Given the description of an element on the screen output the (x, y) to click on. 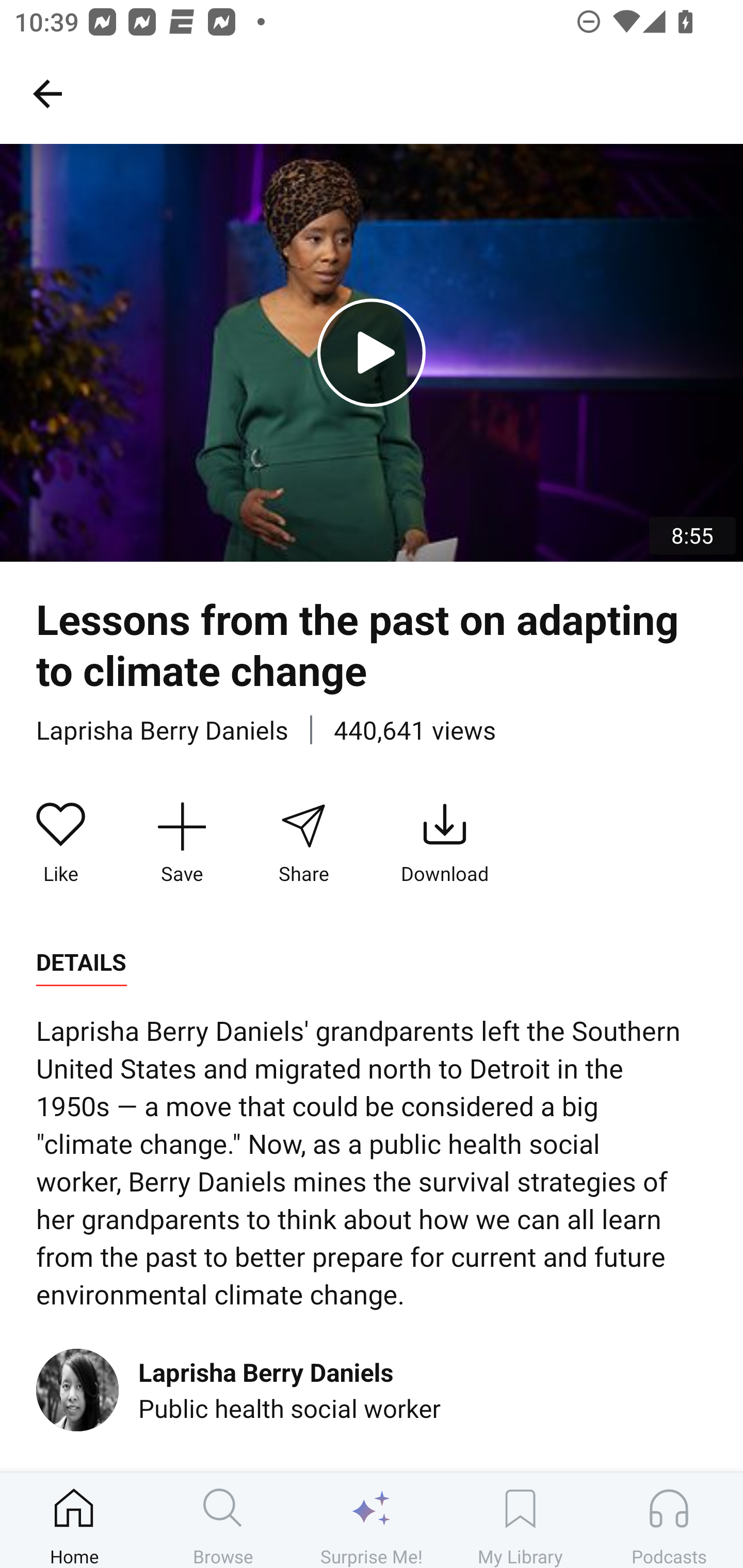
Home, back (47, 92)
Like (60, 843)
Save (181, 843)
Share (302, 843)
Download (444, 843)
DETAILS (80, 962)
Home (74, 1520)
Browse (222, 1520)
Surprise Me! (371, 1520)
My Library (519, 1520)
Podcasts (668, 1520)
